Given the description of an element on the screen output the (x, y) to click on. 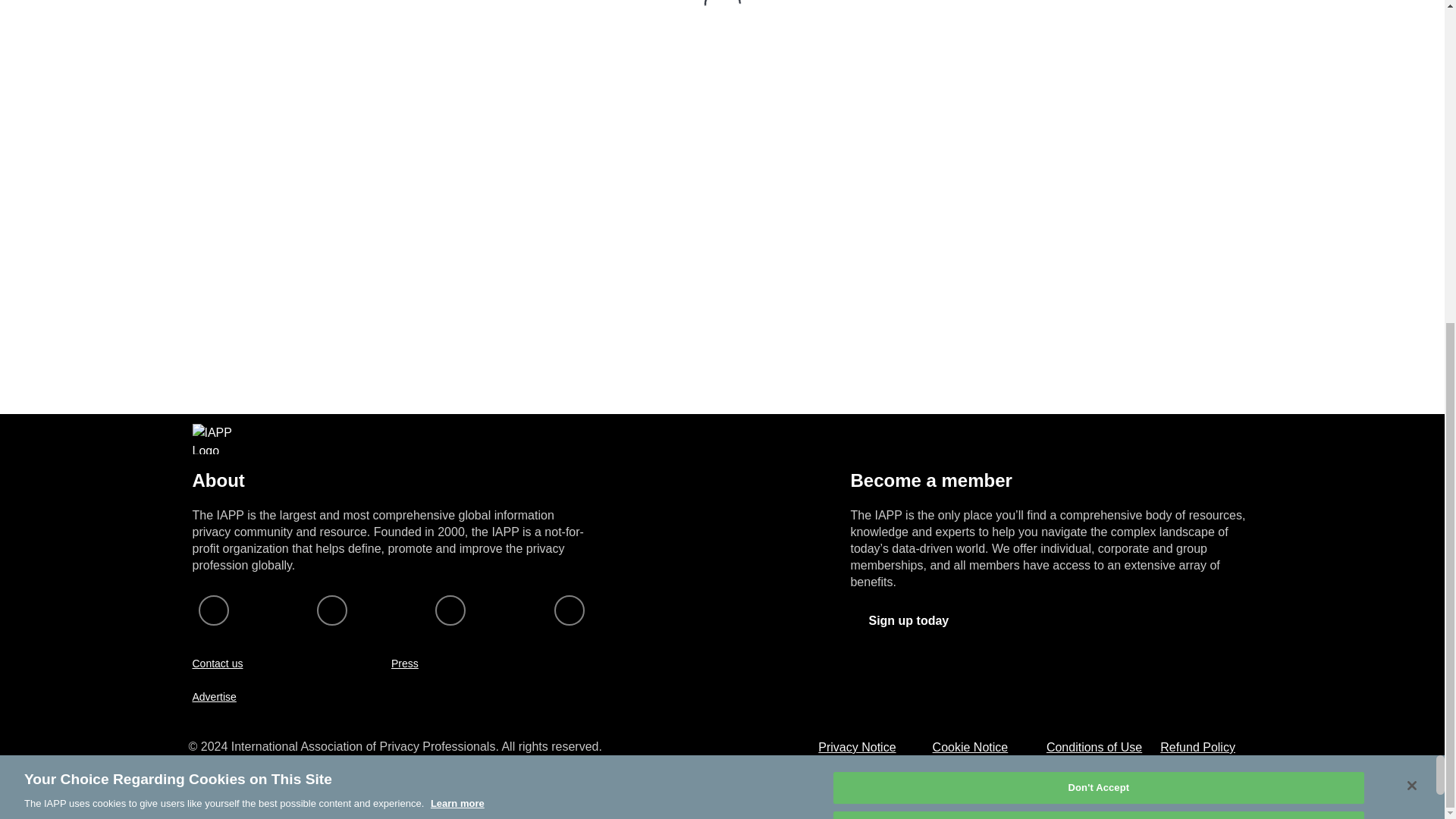
Accept (1098, 300)
Sign up today (908, 620)
Contact us (217, 663)
Don't Accept (1098, 260)
Cookie Notice (971, 747)
Press (405, 663)
Refund Policy (1197, 747)
Sign up today (908, 621)
Advertise (213, 696)
Manage Cookies (1098, 223)
Conditions of Use (1093, 747)
Privacy Notice (856, 747)
Learn more (457, 276)
